Given the description of an element on the screen output the (x, y) to click on. 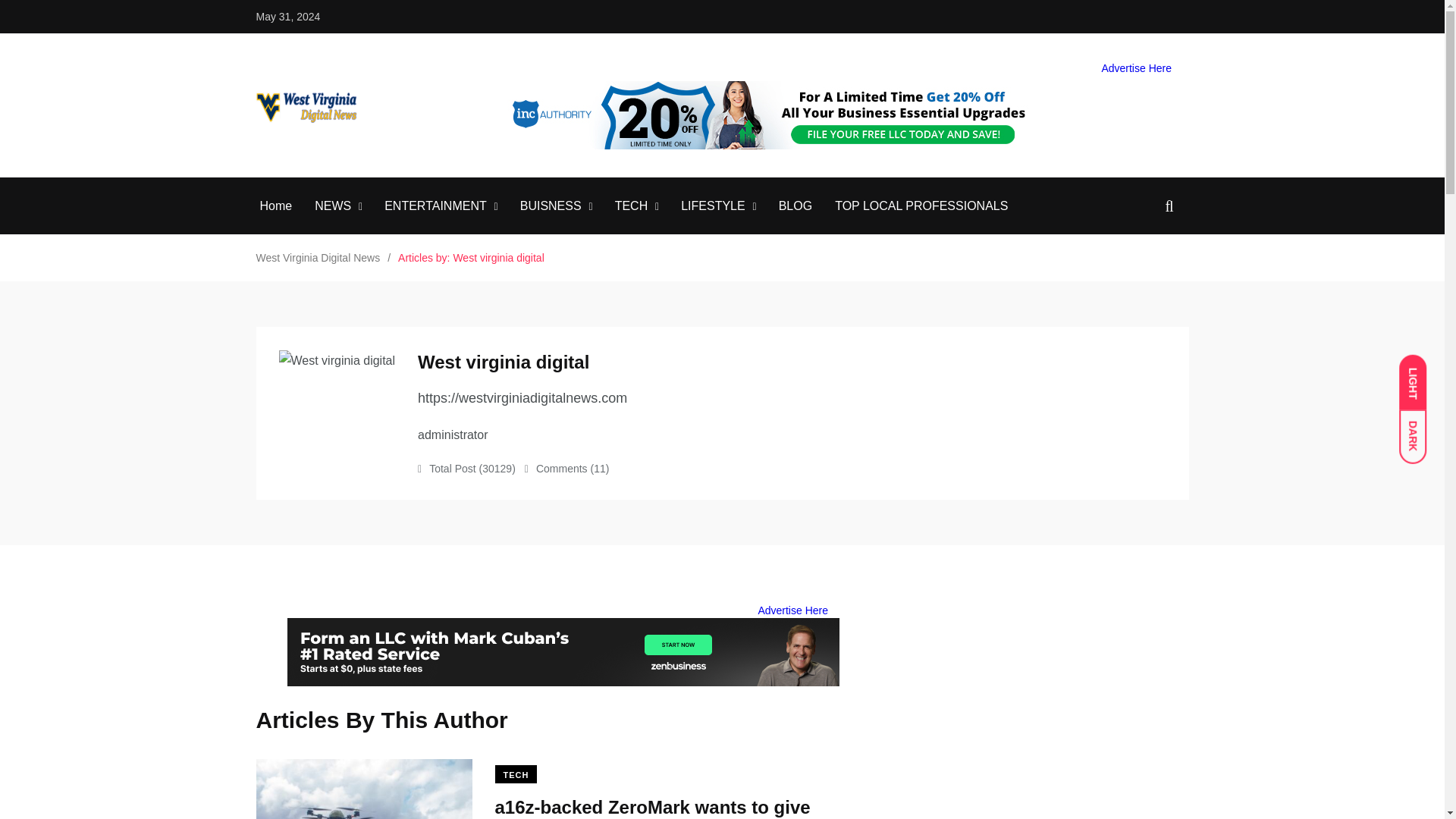
ENTERTAINMENT (435, 206)
Home (275, 206)
Light Mode (1420, 375)
BLOG (795, 206)
TOP LOCAL PROFESSIONALS (920, 206)
NEWS (332, 206)
BUISNESS (549, 206)
TECH (630, 206)
Dark Mode (1419, 428)
West Virginia Digital News (318, 257)
TECH (516, 773)
LIFESTYLE (712, 206)
Go to West Virginia Digital News. (318, 257)
